Given the description of an element on the screen output the (x, y) to click on. 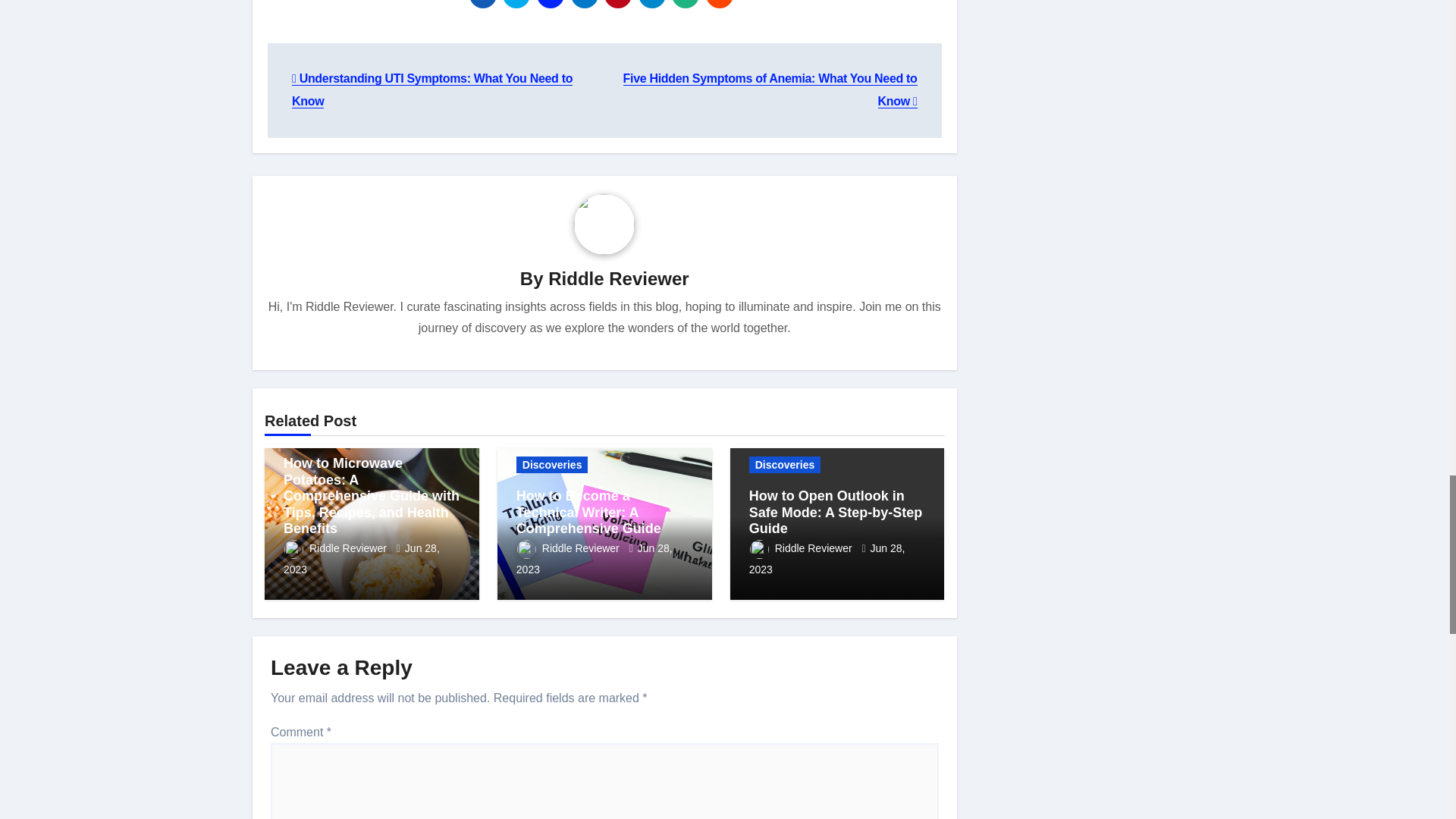
Discoveries (552, 464)
Jun 28, 2023 (361, 558)
Riddle Reviewer (336, 548)
Riddle Reviewer (569, 548)
Five Hidden Symptoms of Anemia: What You Need to Know (770, 89)
Understanding UTI Symptoms: What You Need to Know (432, 89)
Riddle Reviewer (618, 278)
